Given the description of an element on the screen output the (x, y) to click on. 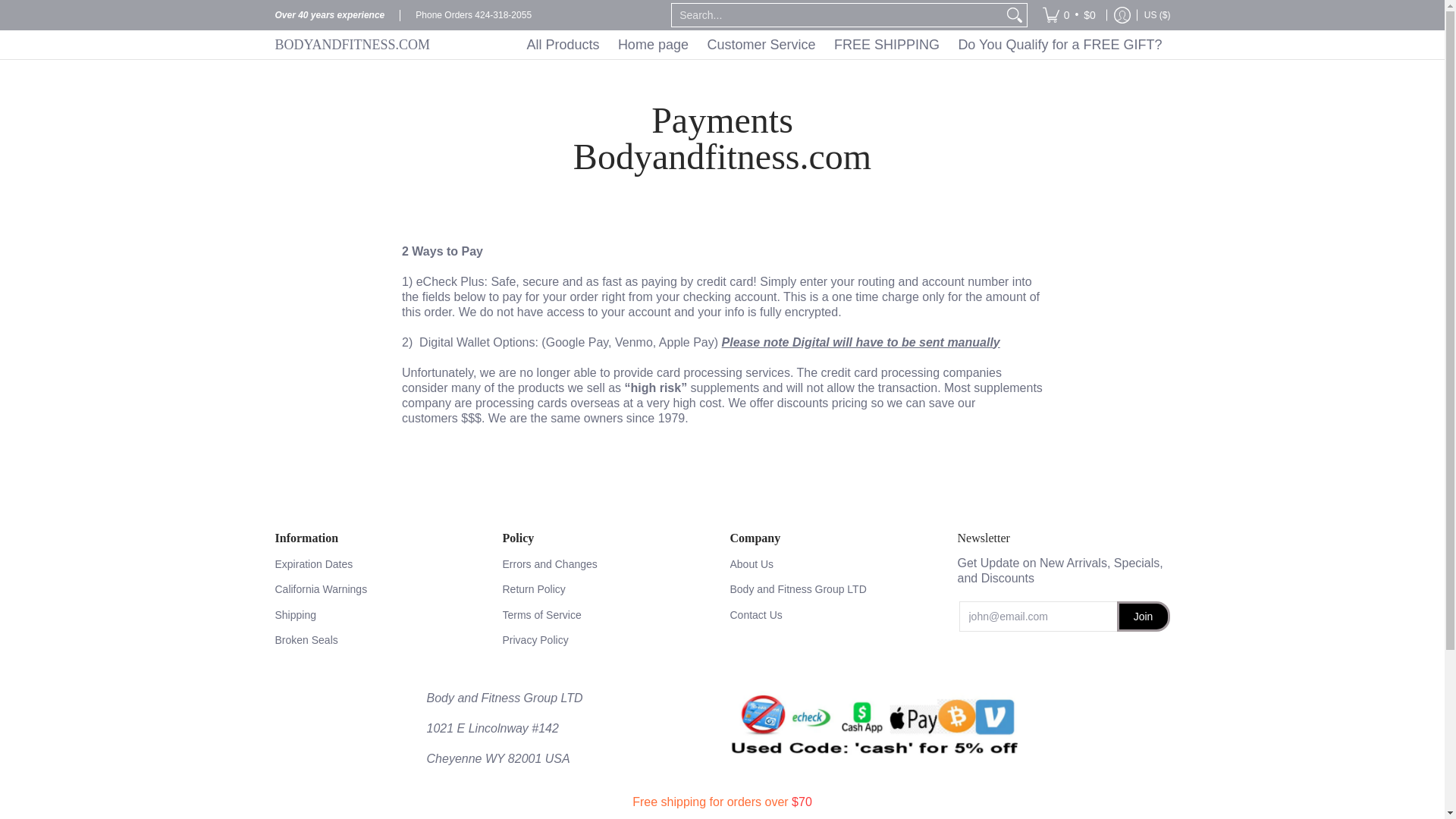
BG (979, 106)
All Products (562, 44)
California Warnings (380, 589)
FREE SHIPPING (887, 44)
Home page (652, 44)
Cart (1068, 15)
Shipping (380, 614)
IO (1028, 7)
Customer Service (760, 44)
Bodyandfitness.com (369, 44)
VG (1008, 39)
Expiration Dates (380, 564)
Do You Qualify for a FREE GIFT? (1059, 44)
Log in (1121, 15)
BN (975, 72)
